Given the description of an element on the screen output the (x, y) to click on. 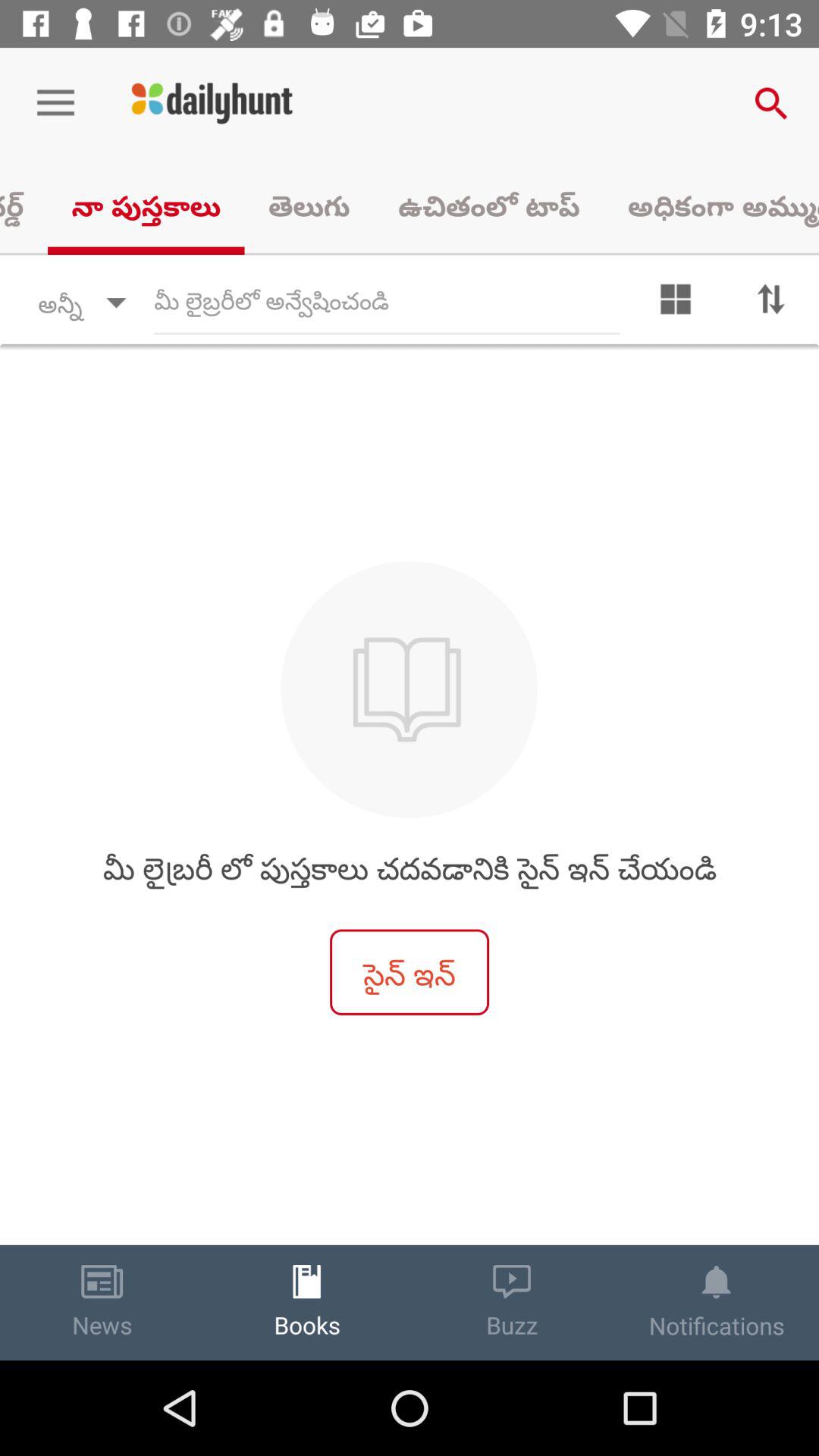
more options (675, 302)
